Given the description of an element on the screen output the (x, y) to click on. 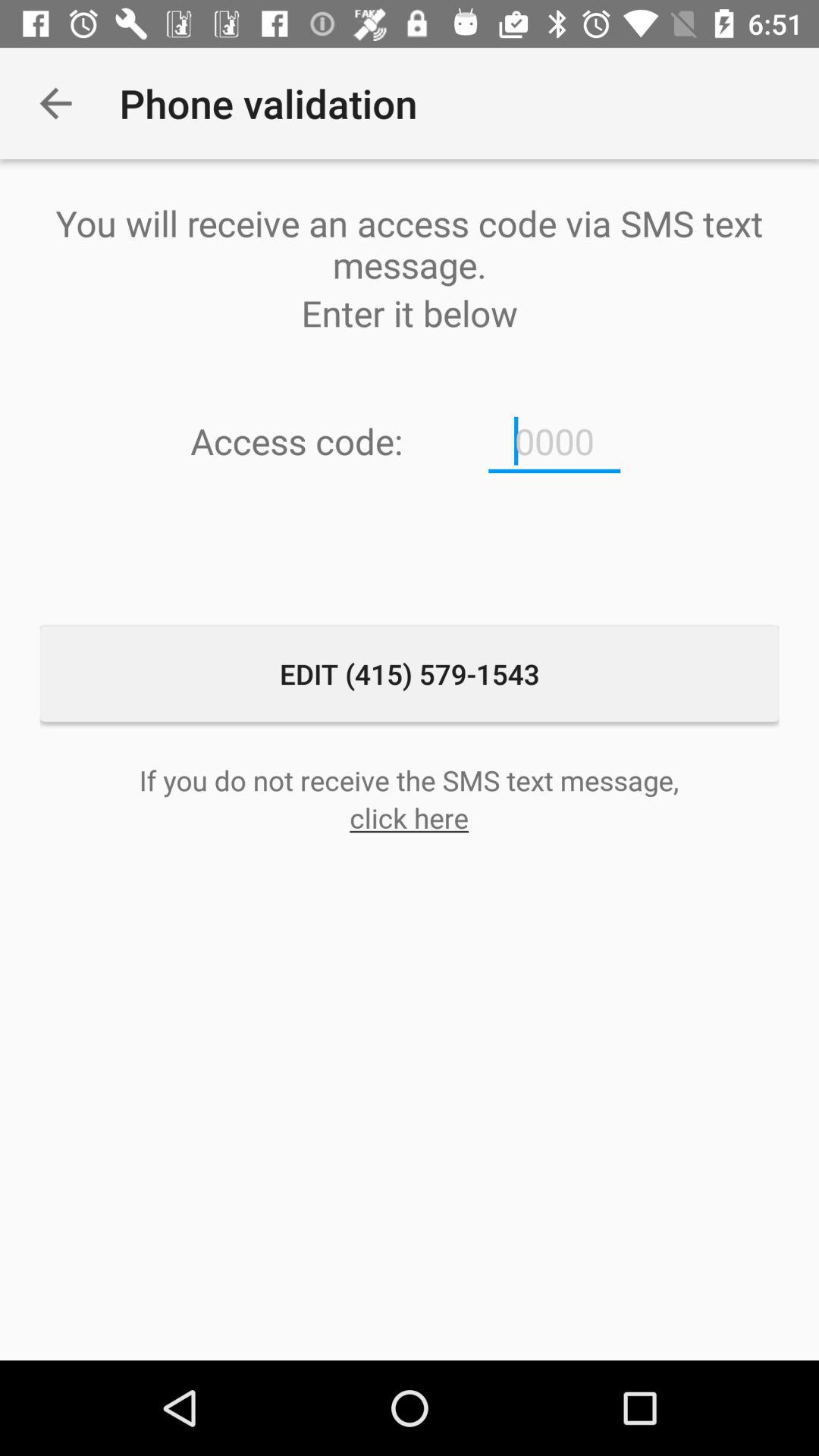
select item to the left of the phone validation item (55, 103)
